Given the description of an element on the screen output the (x, y) to click on. 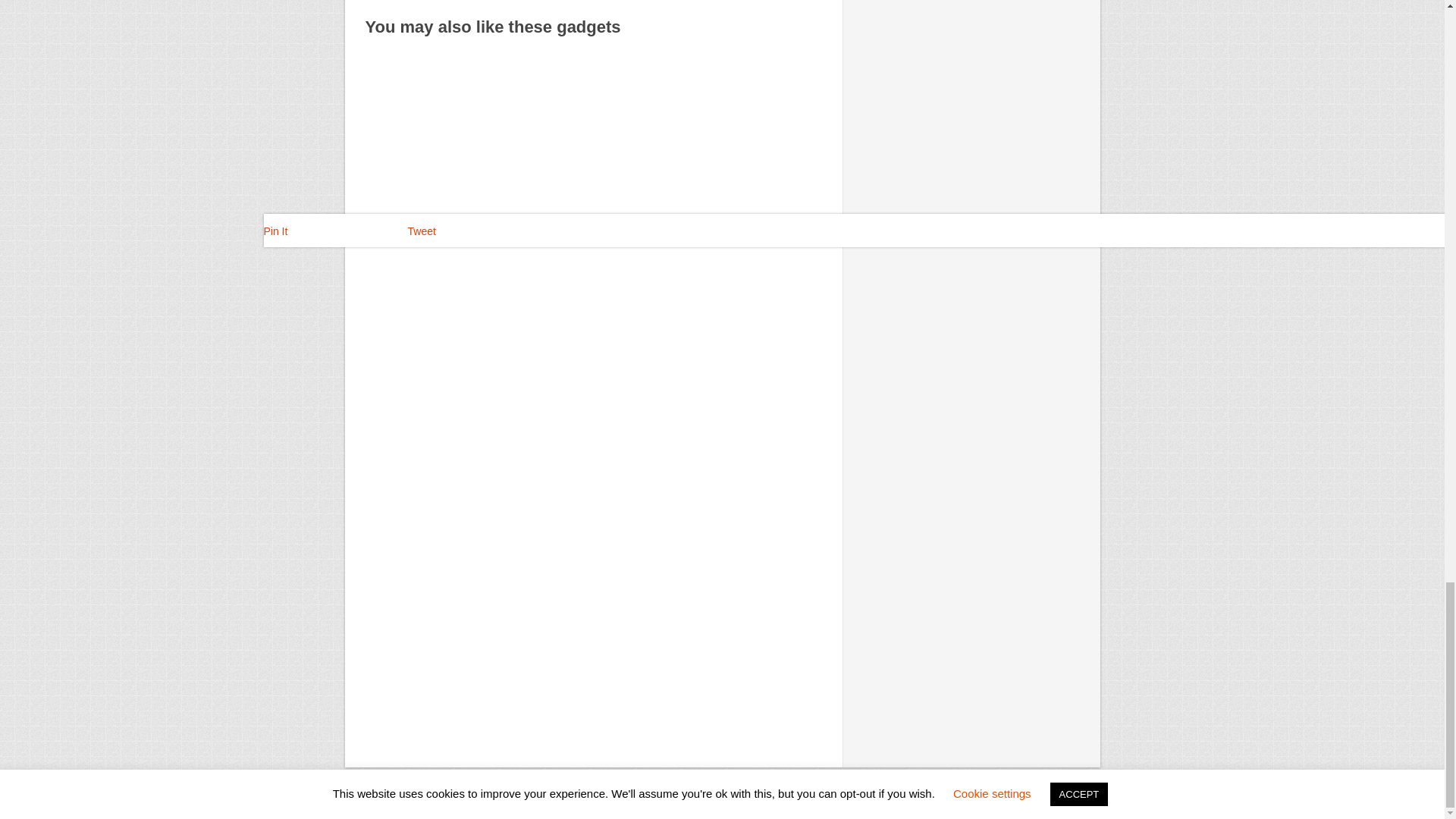
Advertisement (593, 443)
Advertisement (593, 185)
